Given the description of an element on the screen output the (x, y) to click on. 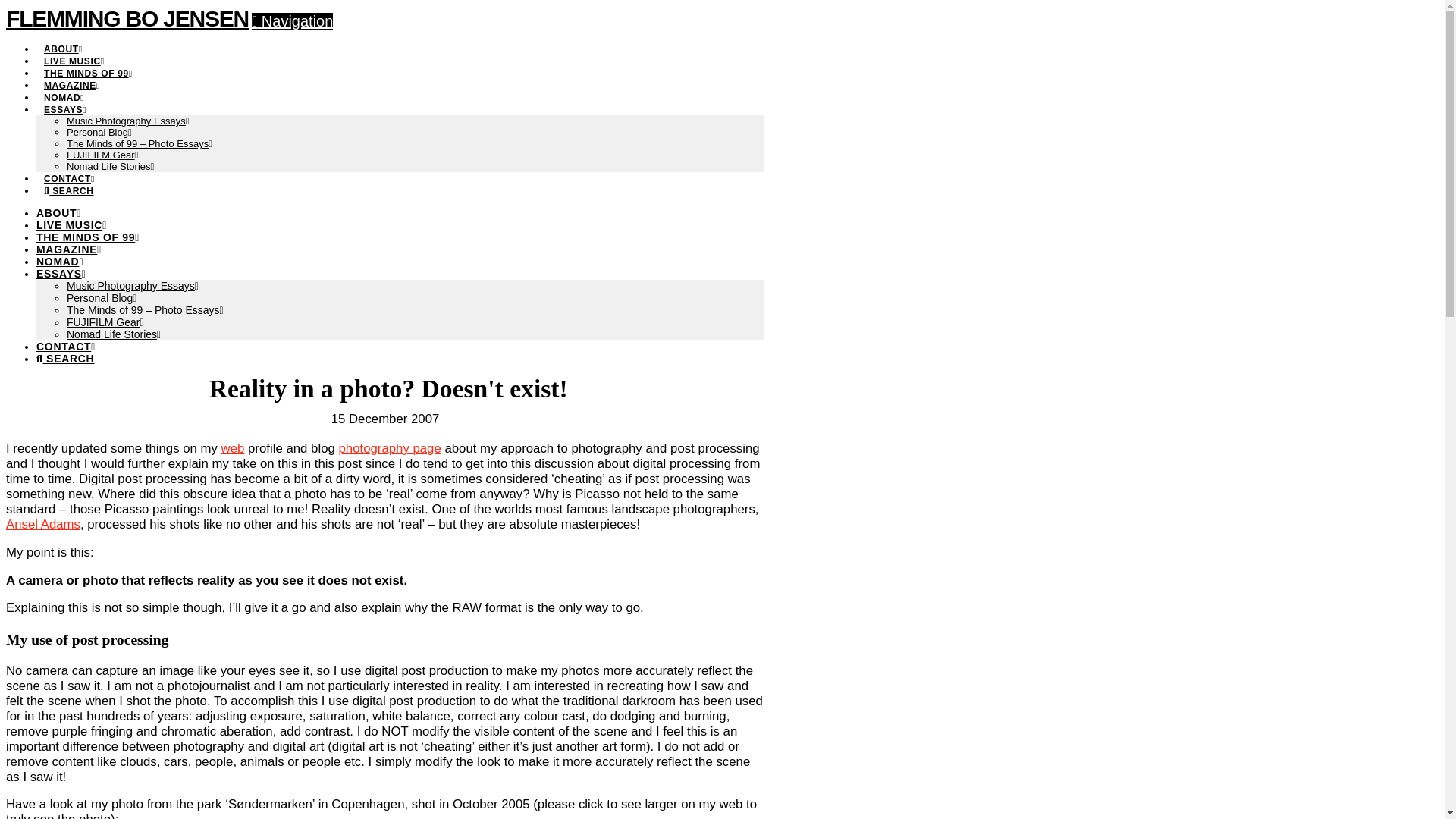
Music Photography Essays (127, 120)
THE MINDS OF 99 (87, 65)
NOMAD (63, 89)
MAGAZINE (71, 77)
THE MINDS OF 99 (87, 236)
CONTACT (66, 346)
SEARCH (65, 358)
Ansel Adams (42, 523)
Navigation (292, 21)
Music Photography Essays (132, 285)
